Given the description of an element on the screen output the (x, y) to click on. 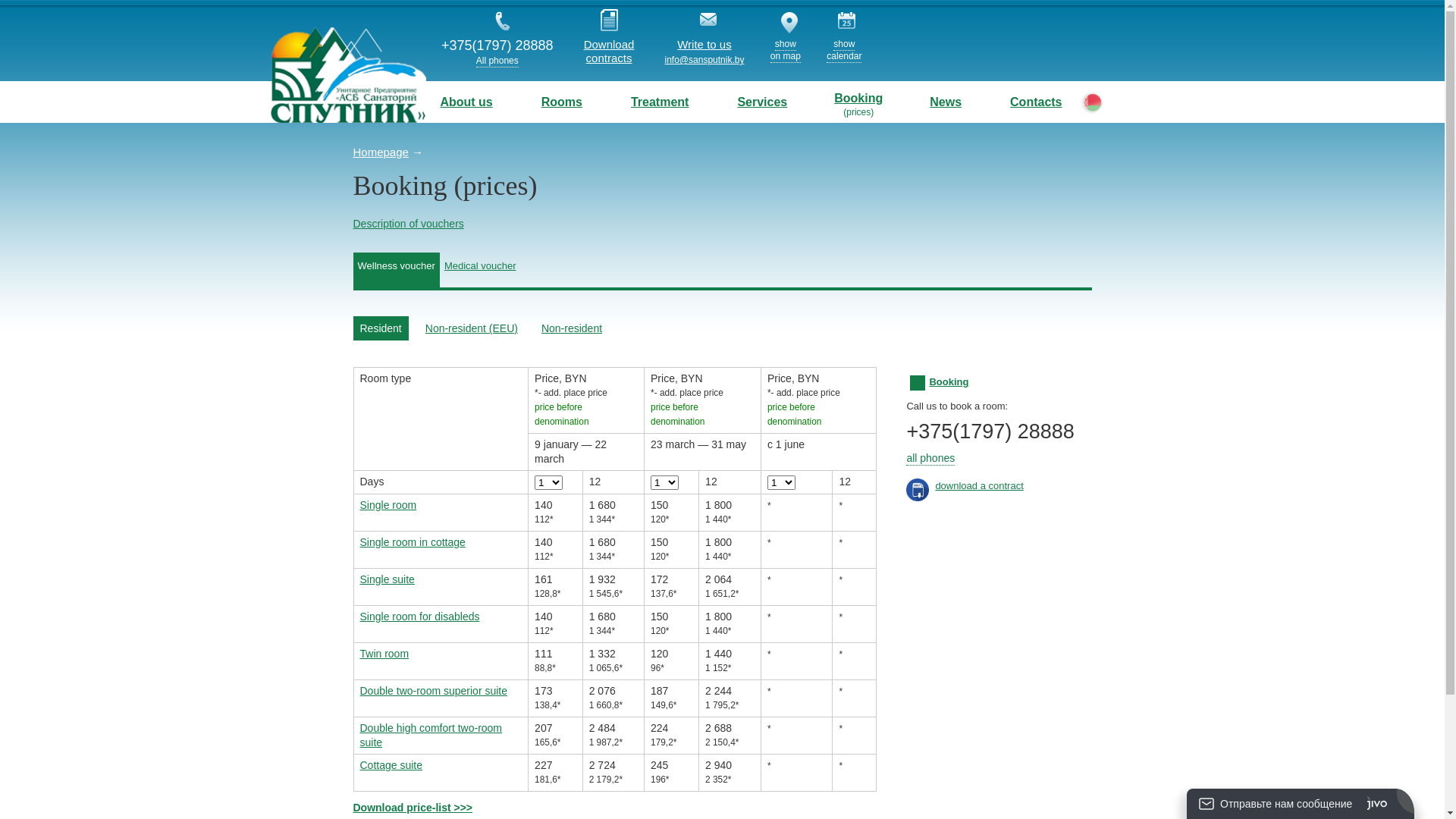
  Element type: text (347, 74)
Download contracts Element type: text (608, 50)
info@sansputnik.by Element type: text (703, 59)
Download price-list >>> Element type: text (413, 807)
Booking
(prices) Element type: text (858, 101)
Single room for disableds Element type: text (419, 616)
Treatment Element type: text (659, 101)
Resident Element type: text (380, 328)
About us Element type: text (465, 101)
Contacts Element type: text (1035, 101)
Cottage suite Element type: text (390, 765)
Write to us Element type: text (703, 44)
News Element type: text (945, 101)
Single room in cottage Element type: text (411, 542)
Double high comfort two-room suite Element type: text (430, 734)
Twin room Element type: text (383, 653)
Medical voucher Element type: text (479, 269)
Booking Element type: text (948, 381)
Double two-room superior suite Element type: text (433, 690)
Non-resident (EEU) Element type: text (471, 328)
Services Element type: text (761, 101)
show
on map Element type: text (785, 50)
Single suite Element type: text (386, 579)
download a contract Element type: text (978, 485)
Single room Element type: text (387, 504)
Wellness voucher Element type: text (396, 269)
Homepage Element type: text (380, 151)
Rooms Element type: text (561, 101)
Description of vouchers Element type: text (408, 223)
Non-resident Element type: text (571, 328)
